Given the description of an element on the screen output the (x, y) to click on. 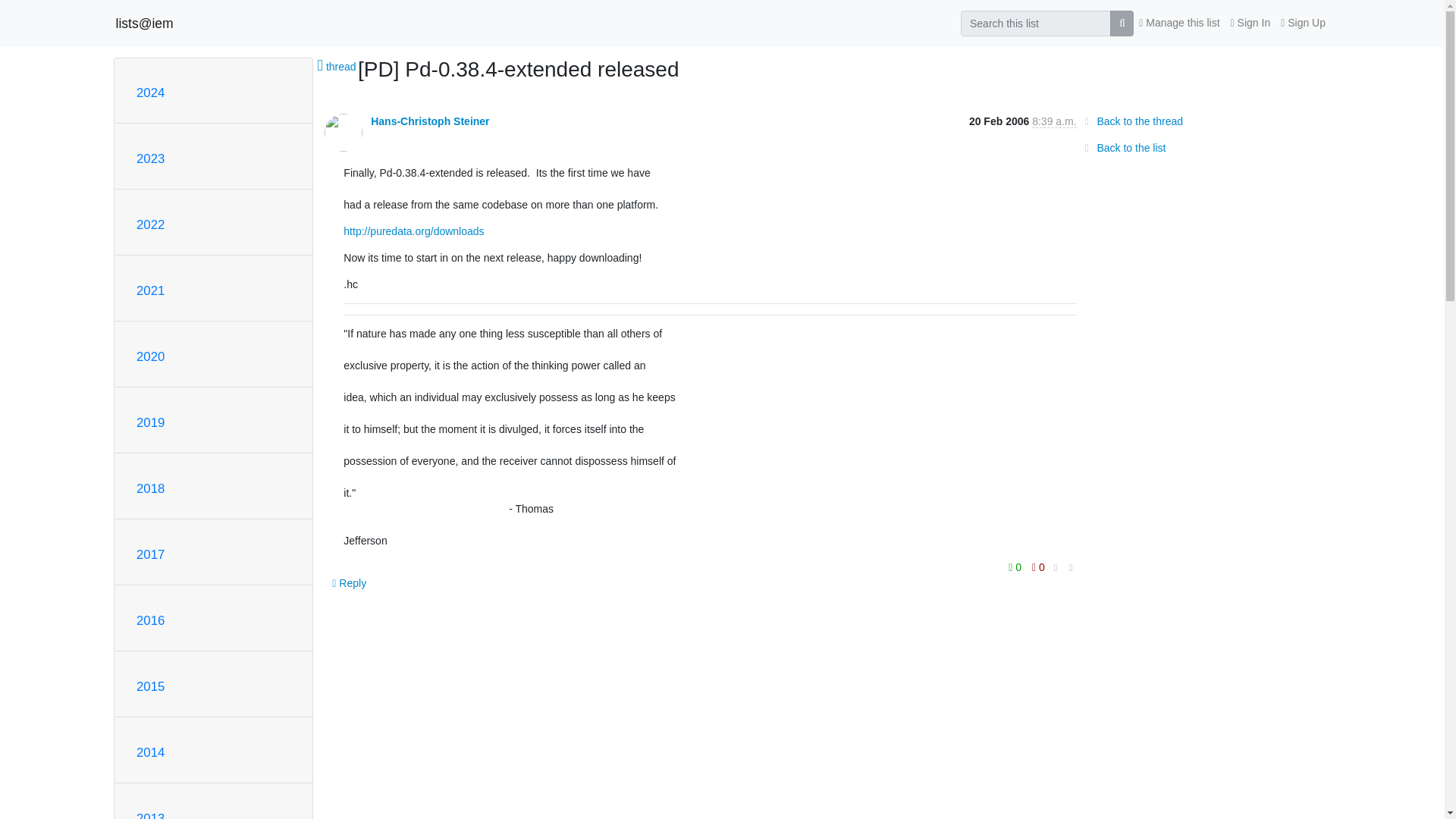
2022 (150, 224)
You must be logged-in to vote. (1037, 566)
Sign Up (1302, 22)
2024 (150, 92)
Sign In (1250, 22)
Sign in to reply online (349, 582)
Sender's time: Feb. 20, 2006, 2:39 a.m. (1053, 121)
2023 (150, 158)
See the profile for Hans-Christoph Steiner (430, 121)
You must be logged-in to vote. (1015, 566)
